Given the description of an element on the screen output the (x, y) to click on. 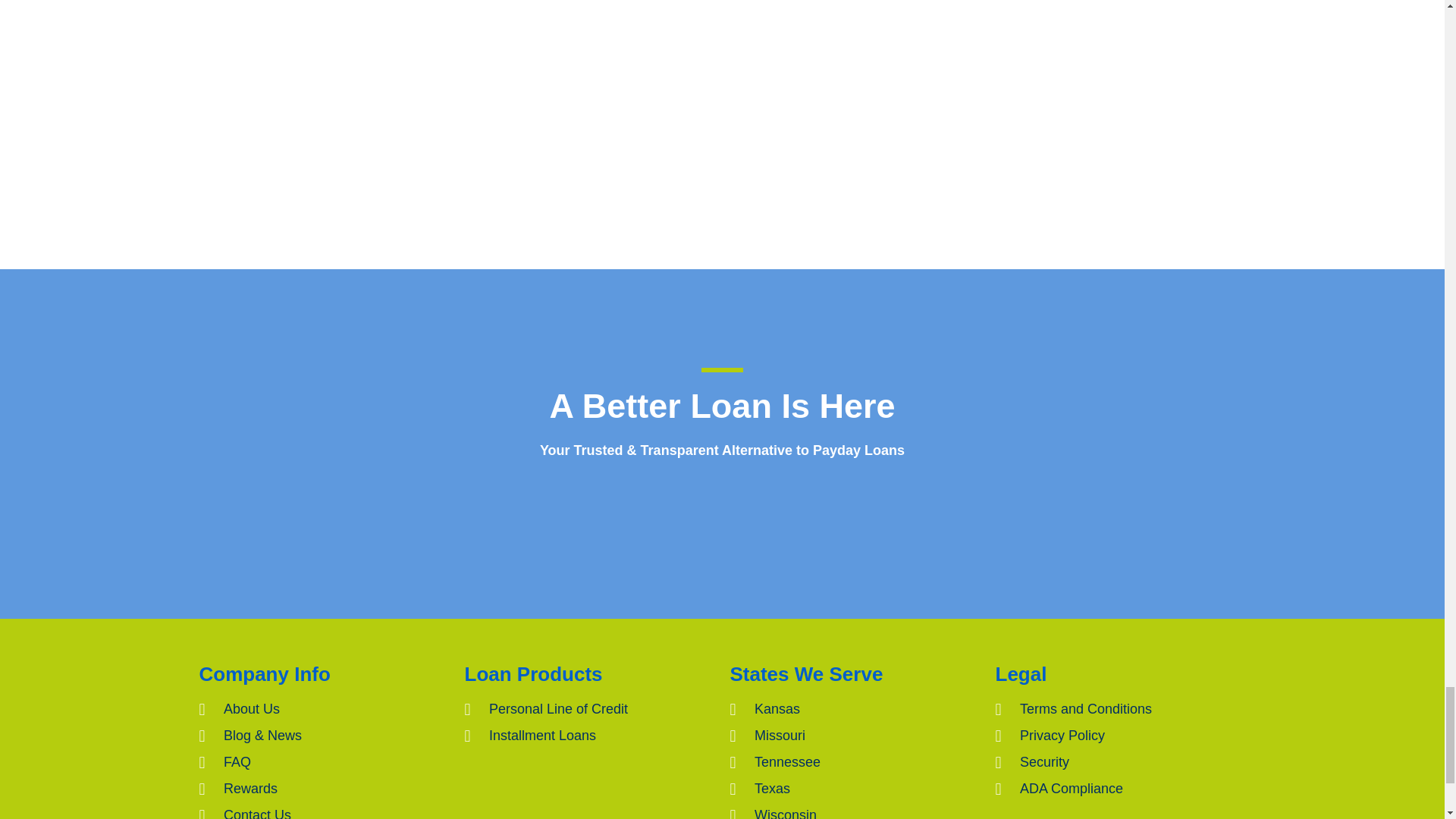
About Us (323, 709)
Personal Line of Credit (589, 709)
Rewards (323, 788)
Contact Us (323, 812)
FAQ (323, 762)
Installment Loans (589, 735)
